Given the description of an element on the screen output the (x, y) to click on. 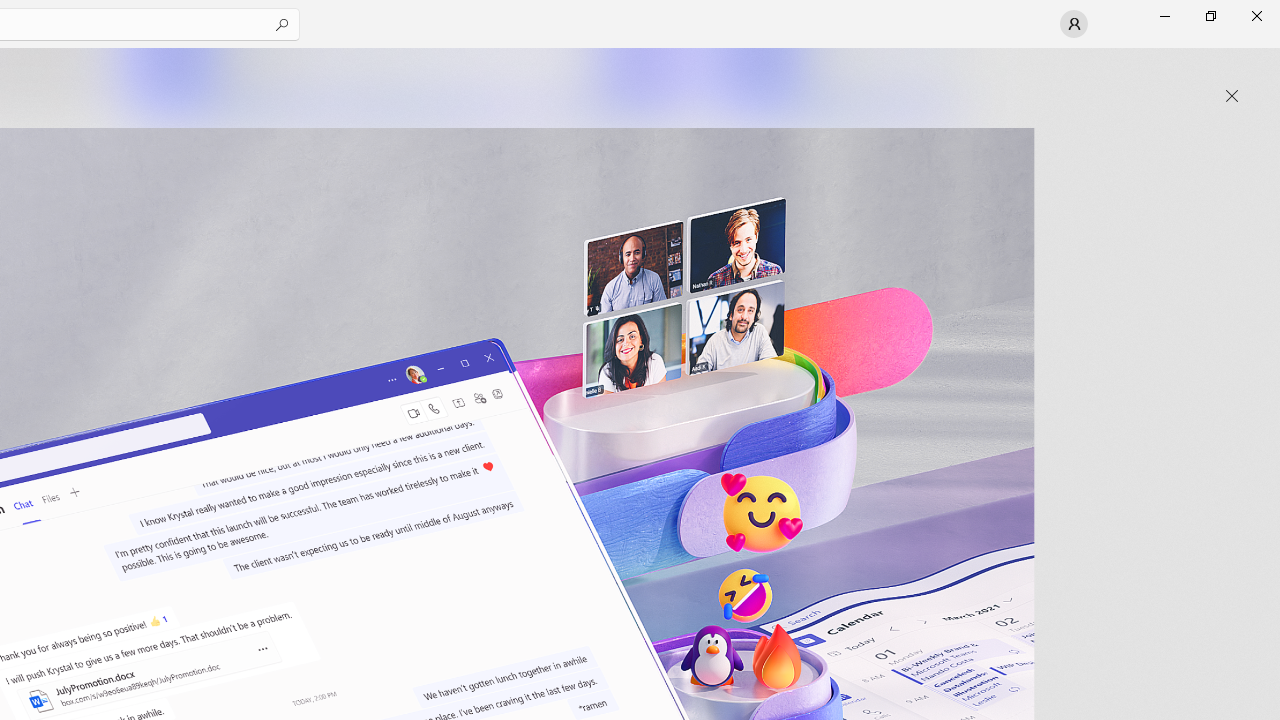
Screenshot 2 (406, 81)
Show all ratings and reviews (924, 495)
close popup window (1232, 95)
Screenshot 3 (833, 81)
